Given the description of an element on the screen output the (x, y) to click on. 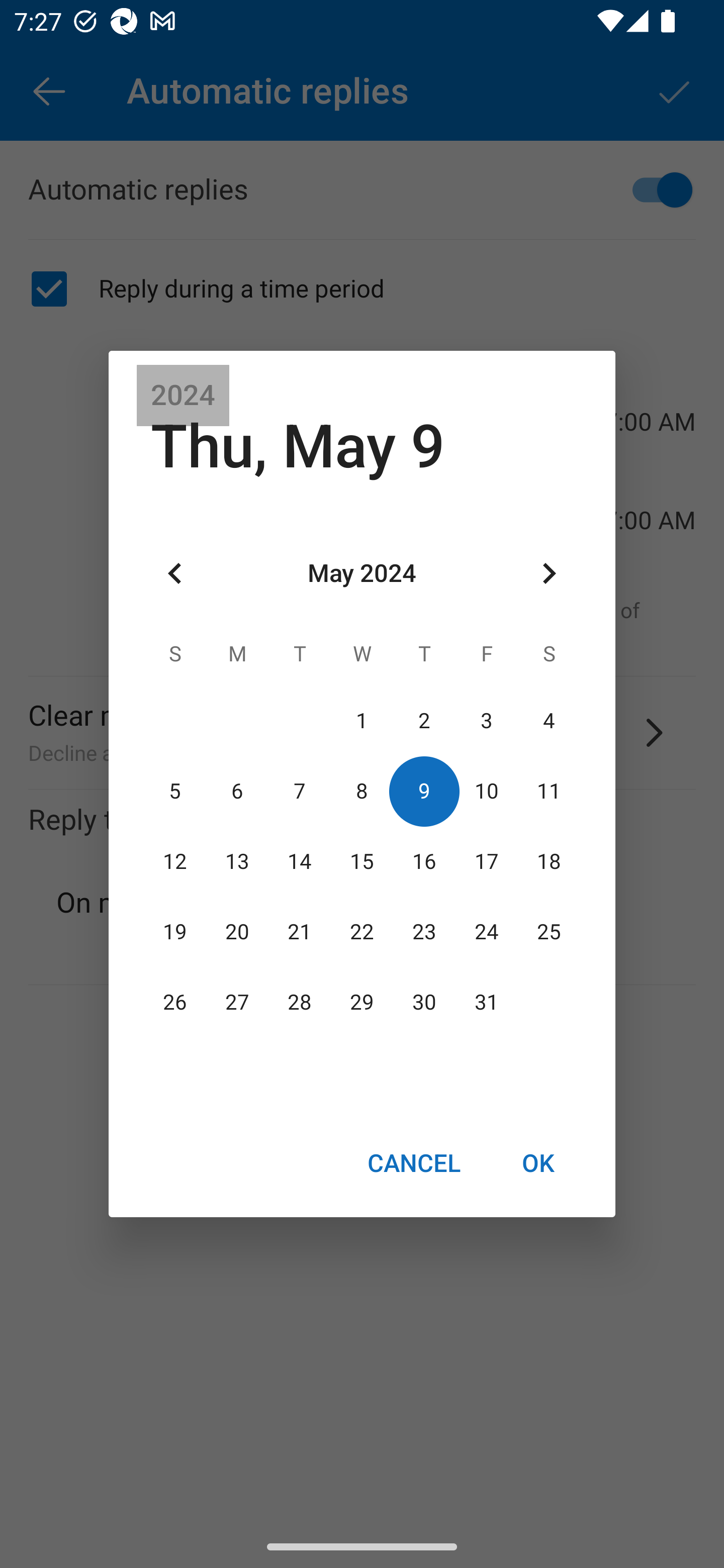
2024 (182, 395)
Thu, May 9 (297, 446)
Previous month (174, 573)
Next month (548, 573)
1 01 May 2024 (361, 720)
2 02 May 2024 (424, 720)
3 03 May 2024 (486, 720)
4 04 May 2024 (548, 720)
5 05 May 2024 (175, 790)
6 06 May 2024 (237, 790)
7 07 May 2024 (299, 790)
8 08 May 2024 (361, 790)
9 09 May 2024 (424, 790)
10 10 May 2024 (486, 790)
11 11 May 2024 (548, 790)
12 12 May 2024 (175, 861)
13 13 May 2024 (237, 861)
14 14 May 2024 (299, 861)
15 15 May 2024 (361, 861)
16 16 May 2024 (424, 861)
17 17 May 2024 (486, 861)
18 18 May 2024 (548, 861)
19 19 May 2024 (175, 931)
20 20 May 2024 (237, 931)
21 21 May 2024 (299, 931)
22 22 May 2024 (361, 931)
23 23 May 2024 (424, 931)
24 24 May 2024 (486, 931)
25 25 May 2024 (548, 931)
26 26 May 2024 (175, 1002)
27 27 May 2024 (237, 1002)
28 28 May 2024 (299, 1002)
29 29 May 2024 (361, 1002)
30 30 May 2024 (424, 1002)
31 31 May 2024 (486, 1002)
CANCEL (413, 1162)
OK (537, 1162)
